Given the description of an element on the screen output the (x, y) to click on. 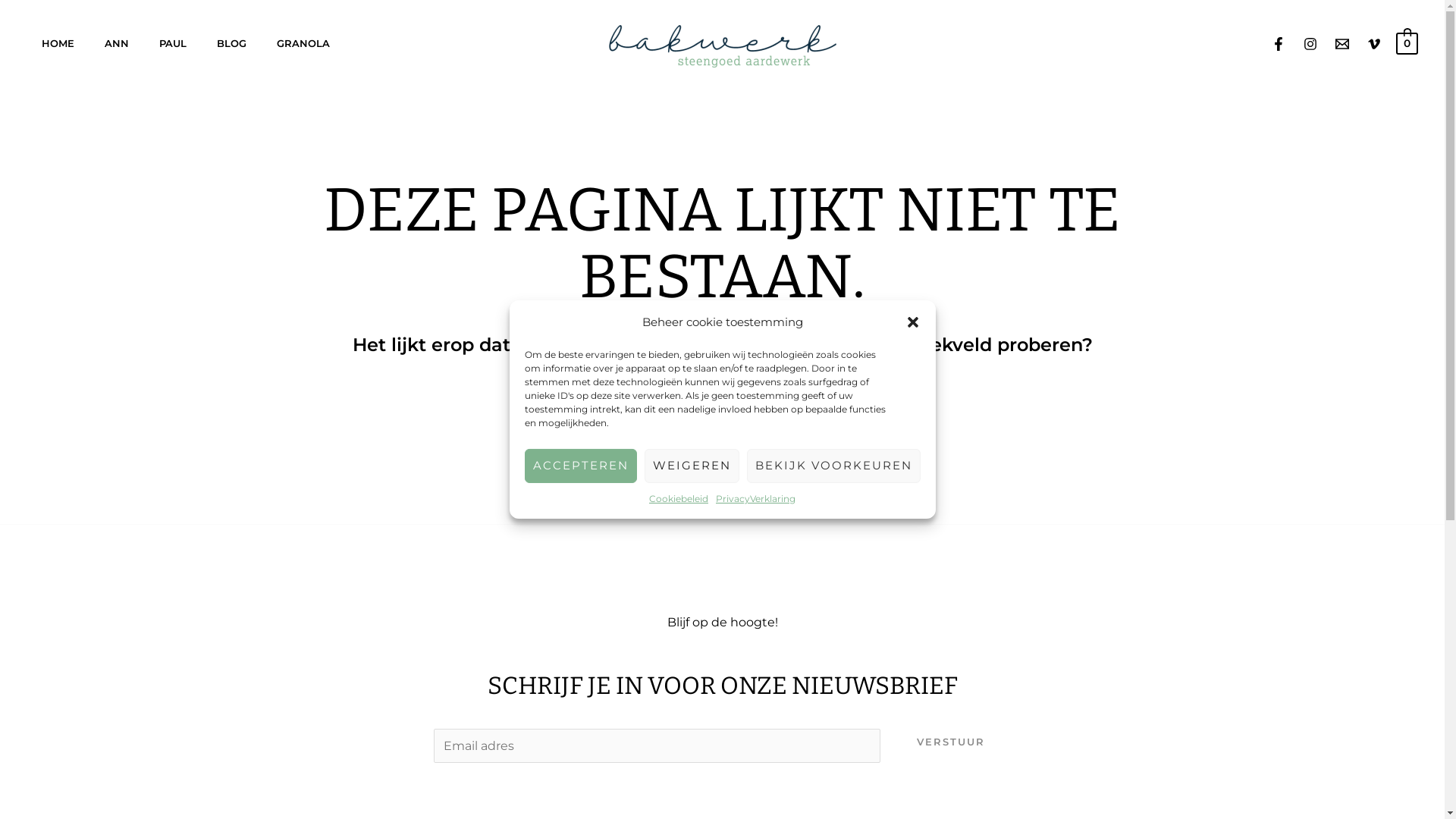
ACCEPTEREN Element type: text (580, 465)
PAUL Element type: text (172, 42)
0 Element type: text (1407, 41)
PrivacyVerklaring Element type: text (755, 498)
ANN Element type: text (116, 42)
VERSTUUR Element type: text (950, 741)
HOME Element type: text (57, 42)
WEIGEREN Element type: text (691, 465)
Zoeken Element type: text (845, 401)
Cookiebeleid Element type: text (678, 498)
BLOG Element type: text (231, 42)
GRANOLA Element type: text (303, 42)
BEKIJK VOORKEUREN Element type: text (832, 465)
